Given the description of an element on the screen output the (x, y) to click on. 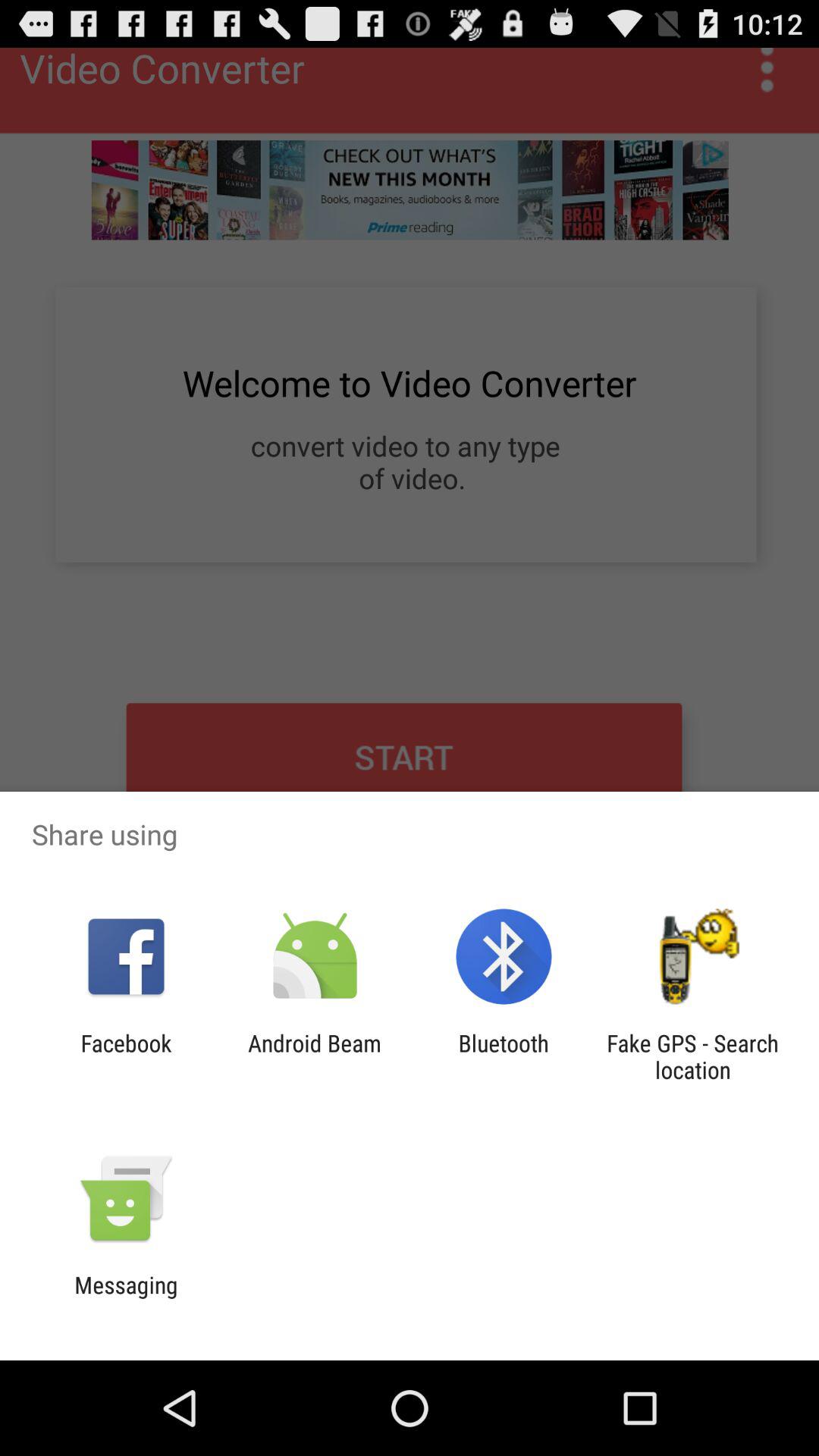
press item at the bottom right corner (692, 1056)
